Given the description of an element on the screen output the (x, y) to click on. 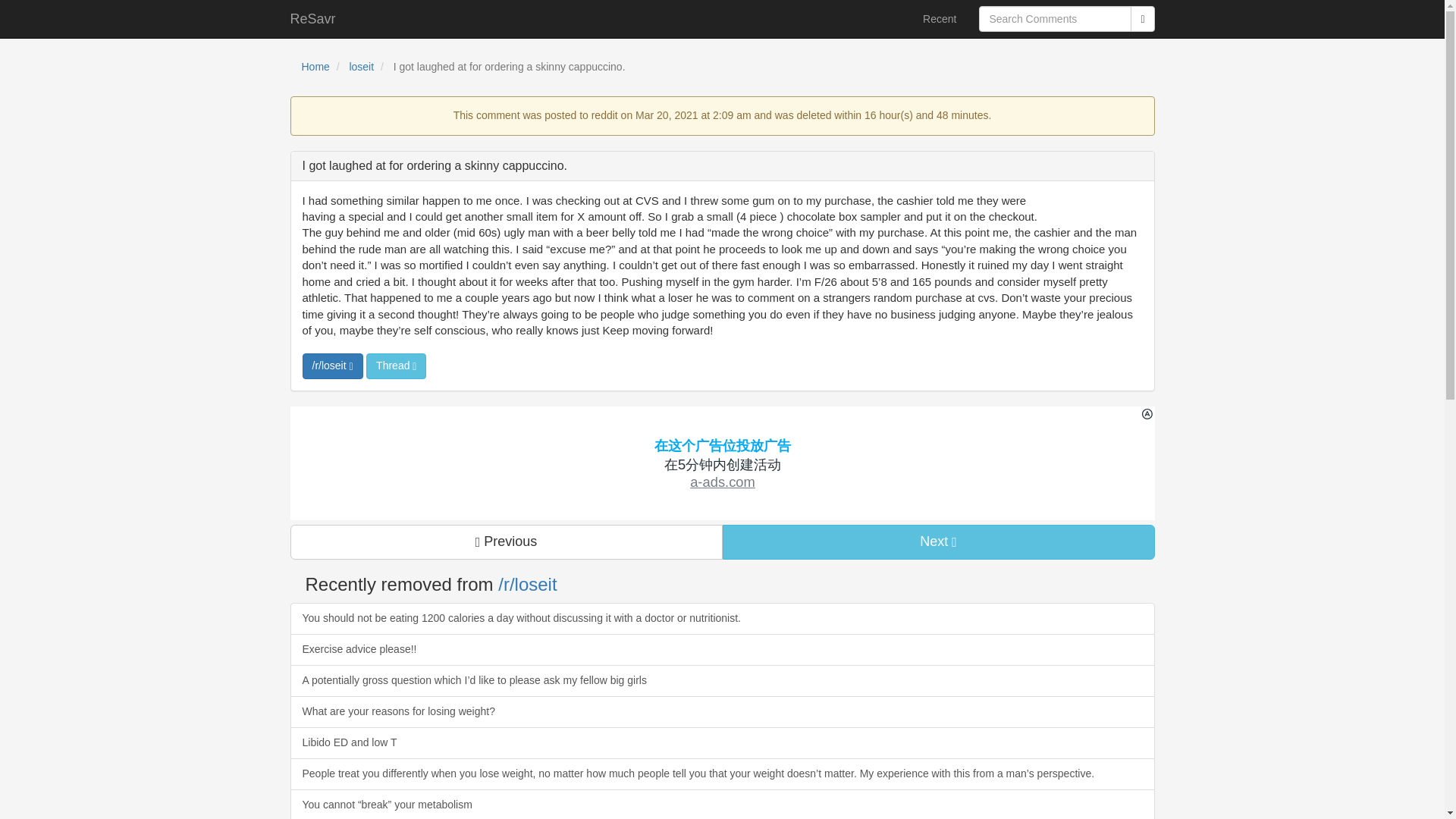
Recent (939, 18)
Home (315, 66)
loseit (361, 66)
What are your reasons for losing weight? (721, 712)
Libido ED and low T (721, 743)
ReSavr (313, 18)
Next (938, 541)
Previous (505, 541)
Exercise advice please!! (721, 649)
